Given the description of an element on the screen output the (x, y) to click on. 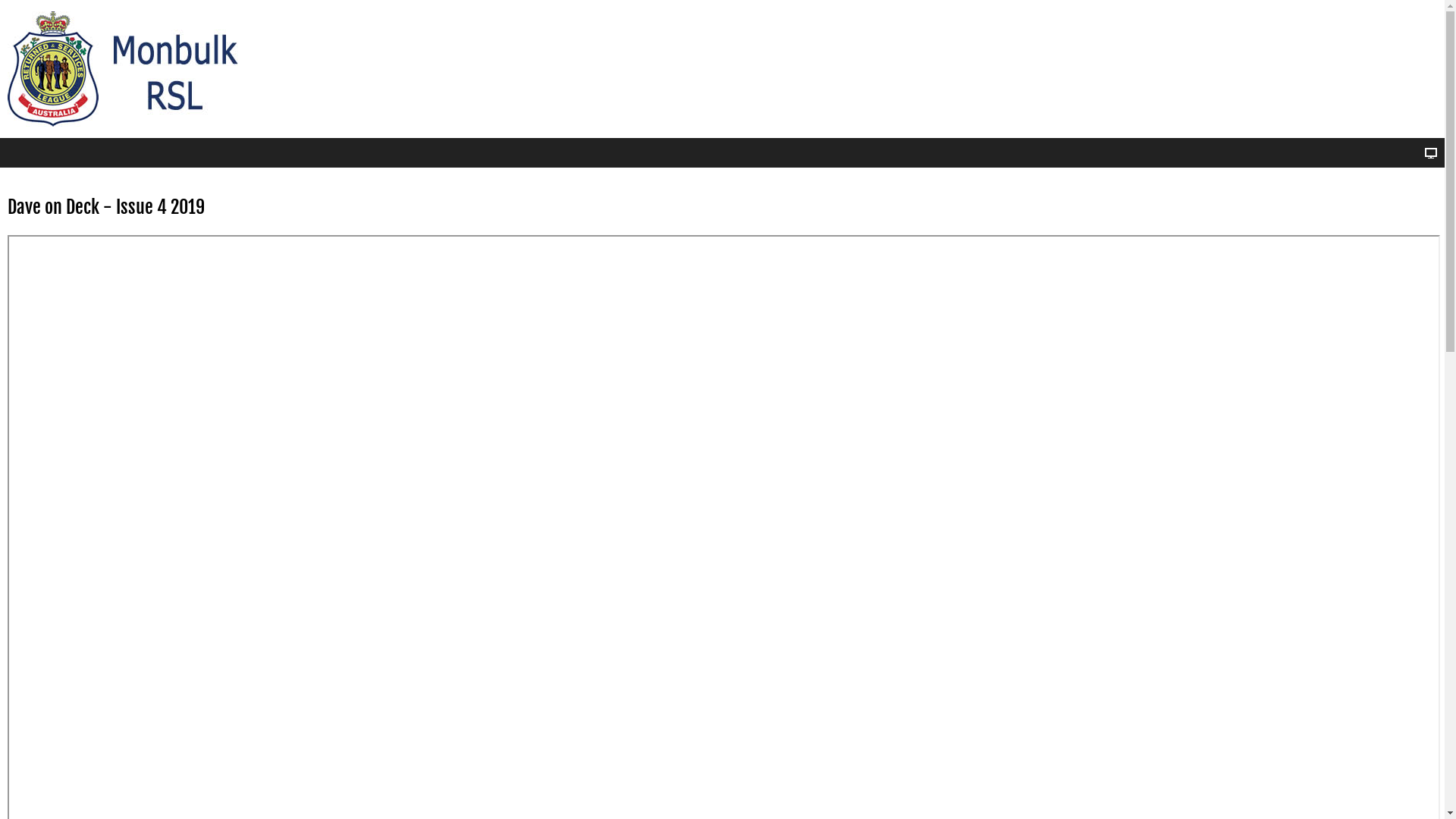
Monbulk RSL Sub Branch Element type: hover (132, 68)
